Given the description of an element on the screen output the (x, y) to click on. 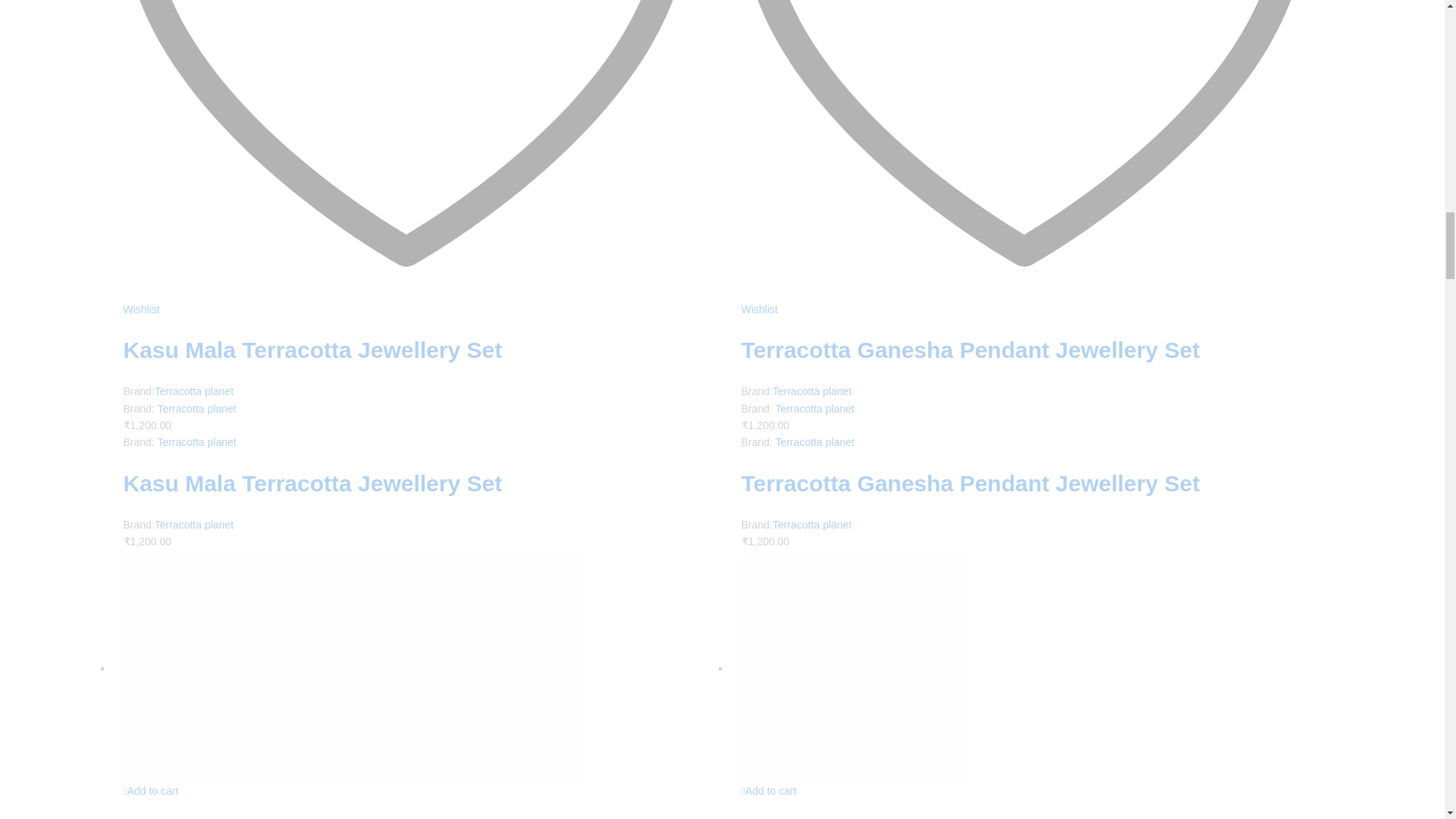
Wishlist (419, 300)
Wishlist (1038, 300)
